Given the description of an element on the screen output the (x, y) to click on. 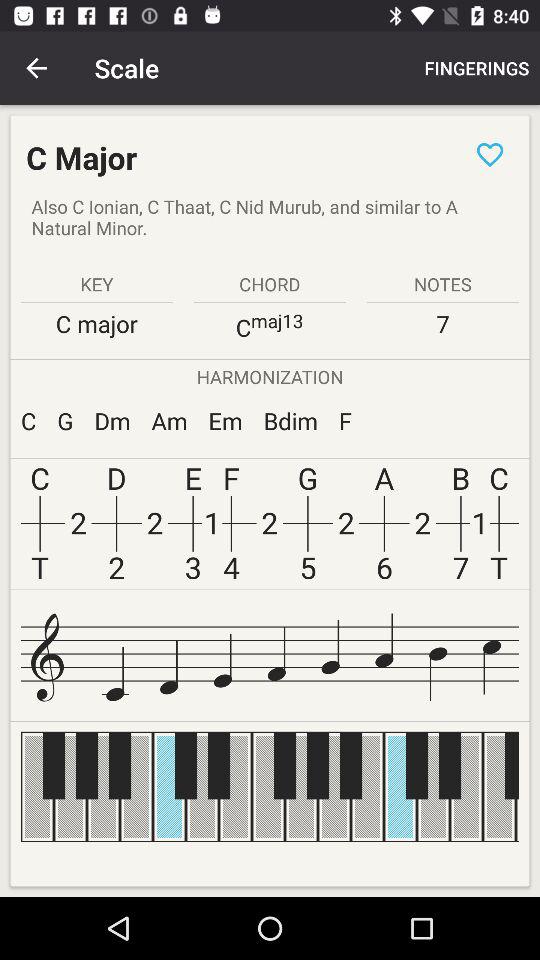
scroll to the fingerings item (476, 67)
